Given the description of an element on the screen output the (x, y) to click on. 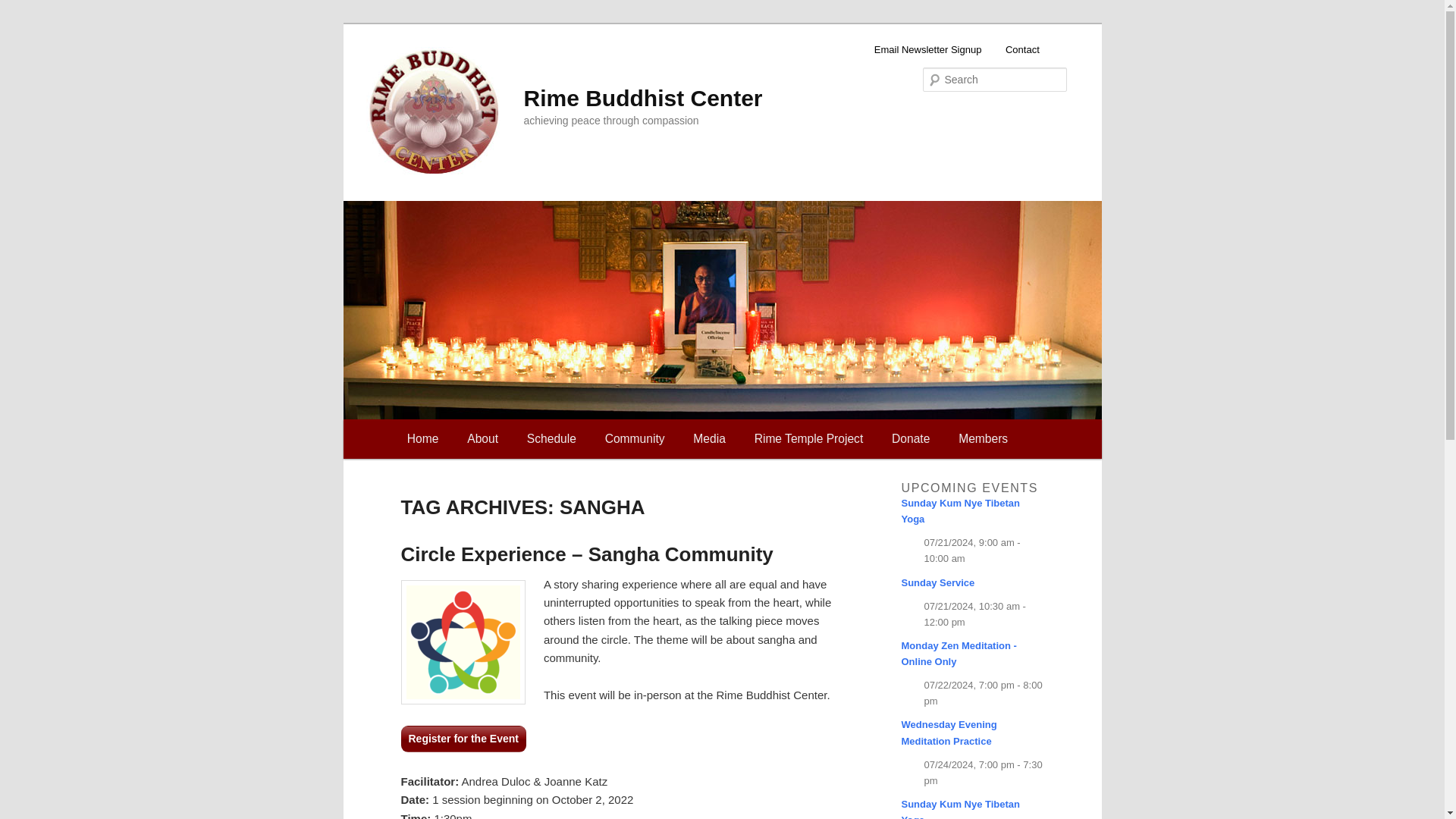
Rime Buddhist Center (641, 97)
Contact (1021, 49)
Home (422, 438)
Email Newsletter Signup (926, 49)
About (482, 438)
Community (635, 438)
Rime Temple Project (808, 438)
Media (708, 438)
Members (982, 438)
Donate (910, 438)
Schedule (551, 438)
Search (24, 8)
